Given the description of an element on the screen output the (x, y) to click on. 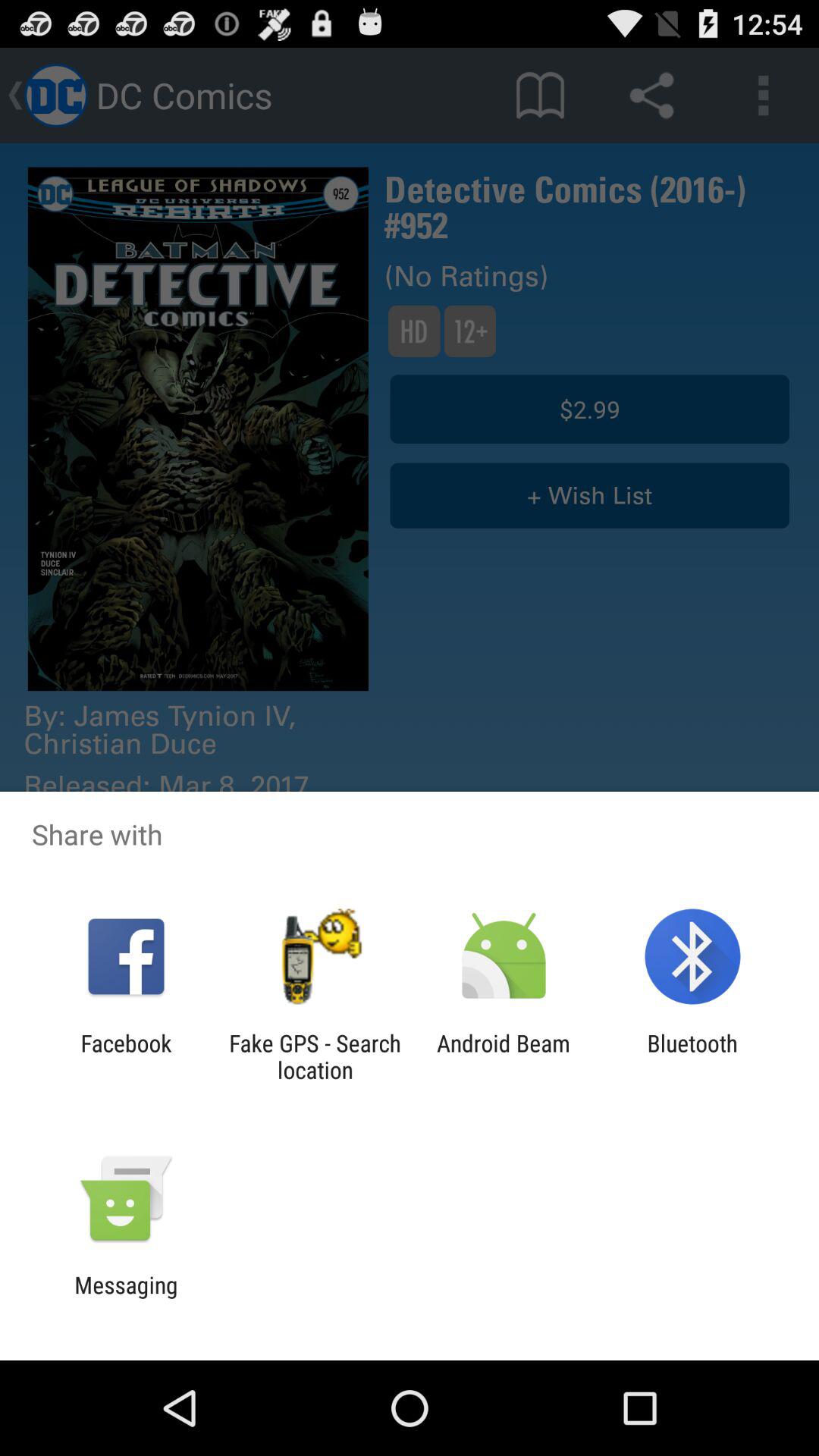
scroll until the android beam item (503, 1056)
